Given the description of an element on the screen output the (x, y) to click on. 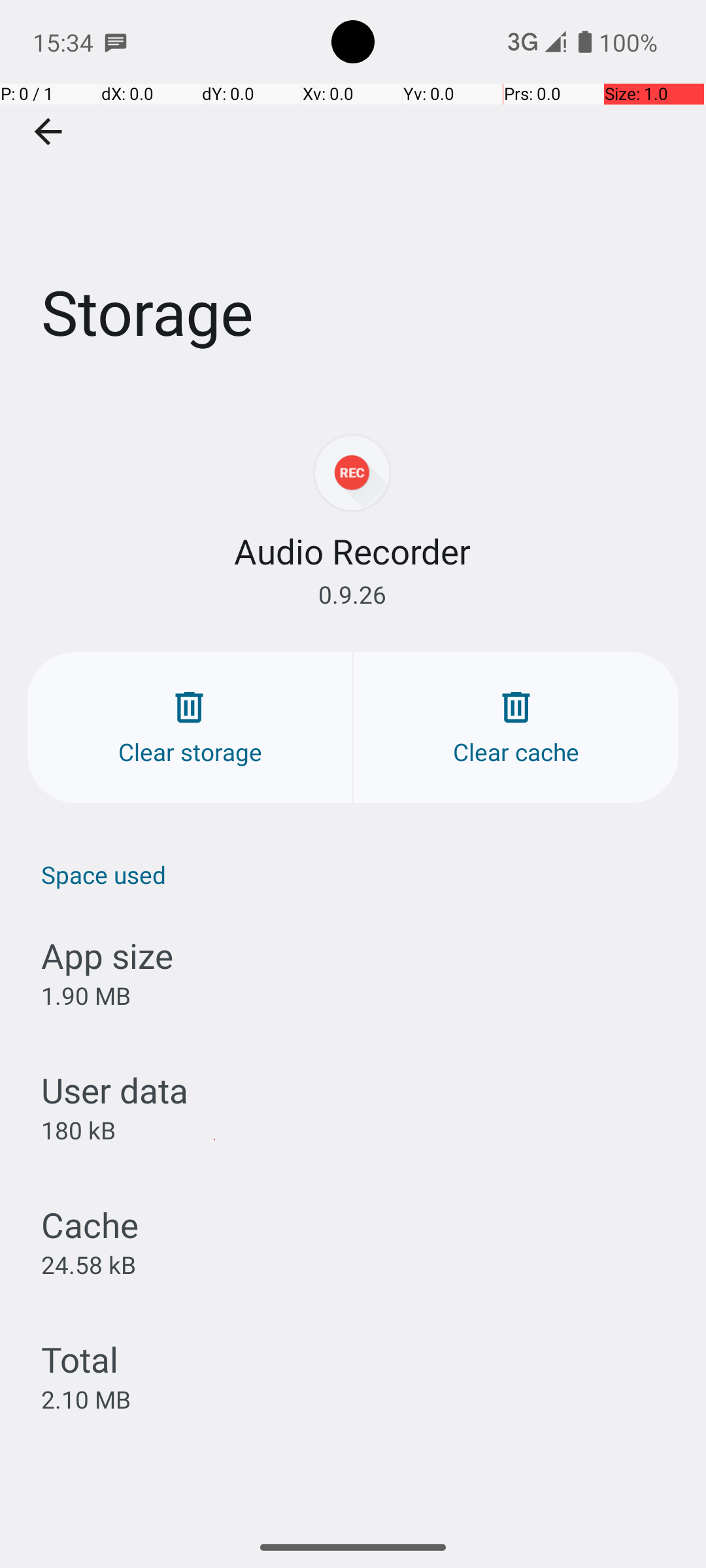
0.9.26 Element type: android.widget.TextView (352, 593)
Clear storage Element type: android.widget.Button (189, 727)
Clear cache Element type: android.widget.Button (515, 727)
Space used Element type: android.widget.TextView (359, 874)
App size Element type: android.widget.TextView (107, 955)
1.90 MB Element type: android.widget.TextView (85, 995)
User data Element type: android.widget.TextView (114, 1089)
180 kB Element type: android.widget.TextView (78, 1129)
Cache Element type: android.widget.TextView (89, 1224)
24.58 kB Element type: android.widget.TextView (88, 1264)
Total Element type: android.widget.TextView (79, 1359)
2.10 MB Element type: android.widget.TextView (85, 1398)
